Given the description of an element on the screen output the (x, y) to click on. 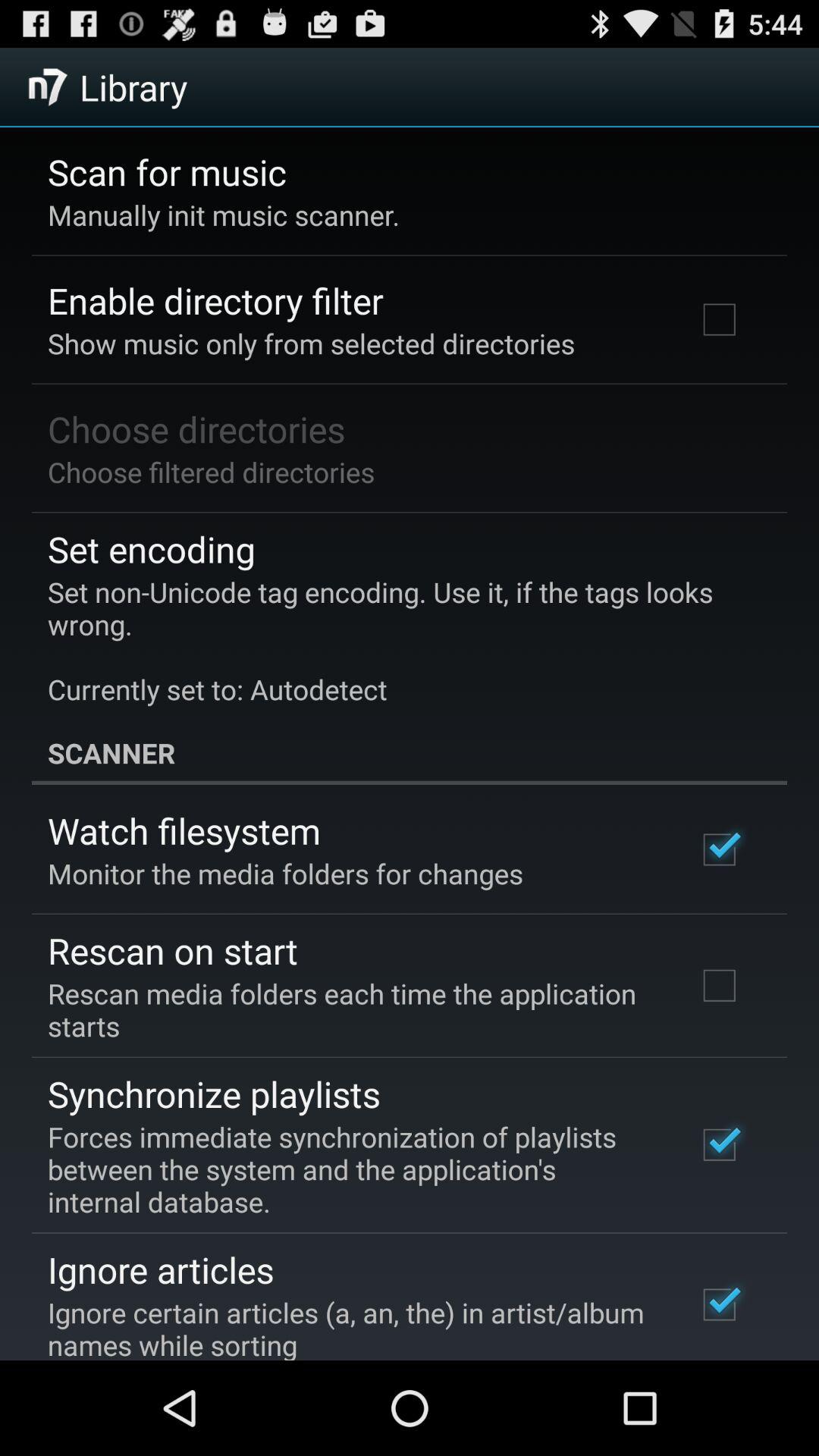
jump to forces immediate synchronization (351, 1169)
